Given the description of an element on the screen output the (x, y) to click on. 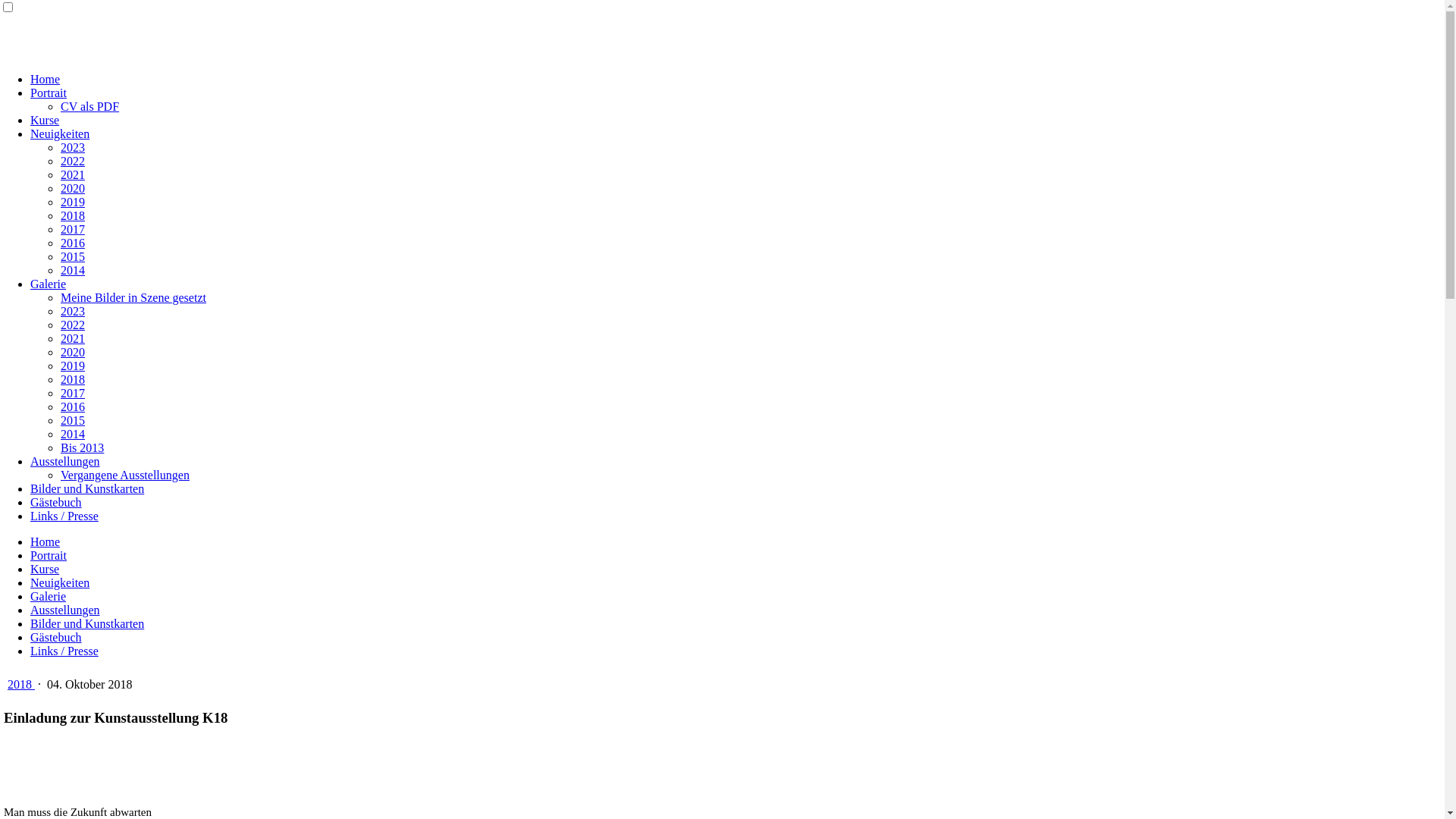
2017 Element type: text (72, 392)
Home Element type: text (44, 78)
2019 Element type: text (72, 201)
Links / Presse Element type: text (64, 515)
2021 Element type: text (72, 338)
Portrait Element type: text (48, 92)
Neuigkeiten Element type: text (59, 133)
2022 Element type: text (72, 160)
2020 Element type: text (72, 351)
Ausstellungen Element type: text (65, 461)
2018 Element type: text (72, 215)
2023 Element type: text (72, 310)
Kurse Element type: text (44, 119)
Meine Bilder in Szene gesetzt Element type: text (133, 297)
Bis 2013 Element type: text (81, 447)
2022 Element type: text (72, 324)
Portrait Element type: text (48, 555)
Links / Presse Element type: text (64, 650)
Neuigkeiten Element type: text (59, 582)
Vergangene Ausstellungen Element type: text (124, 474)
2014 Element type: text (72, 433)
CV als PDF Element type: text (89, 106)
2020 Element type: text (72, 188)
2017 Element type: text (72, 228)
Bilder und Kunstkarten Element type: text (87, 488)
2018 Element type: text (20, 683)
Galerie Element type: text (47, 283)
2014 Element type: text (72, 269)
2016 Element type: text (72, 242)
Home Element type: text (44, 541)
2015 Element type: text (72, 256)
2015 Element type: text (72, 420)
Bilder und Kunstkarten Element type: text (87, 623)
Ausstellungen Element type: text (65, 609)
2016 Element type: text (72, 406)
2018 Element type: text (72, 379)
2019 Element type: text (72, 365)
Kurse Element type: text (44, 568)
2021 Element type: text (72, 174)
2023 Element type: text (72, 147)
Galerie Element type: text (47, 595)
